Given the description of an element on the screen output the (x, y) to click on. 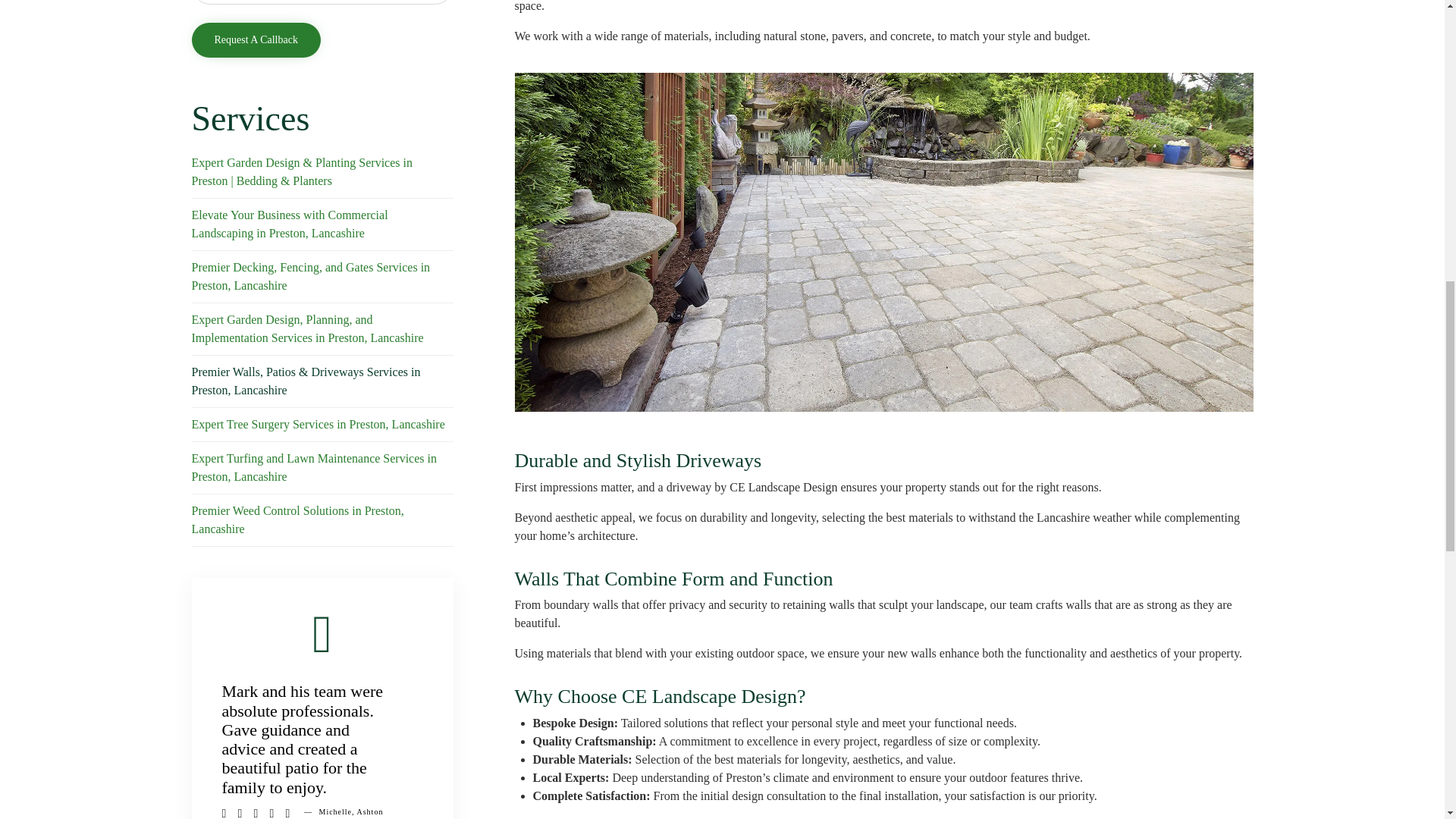
Request A Callback (255, 39)
Premier Weed Control Solutions in Preston, Lancashire (321, 520)
Request A Callback (255, 39)
Expert Tree Surgery Services in Preston, Lancashire (321, 424)
